Given the description of an element on the screen output the (x, y) to click on. 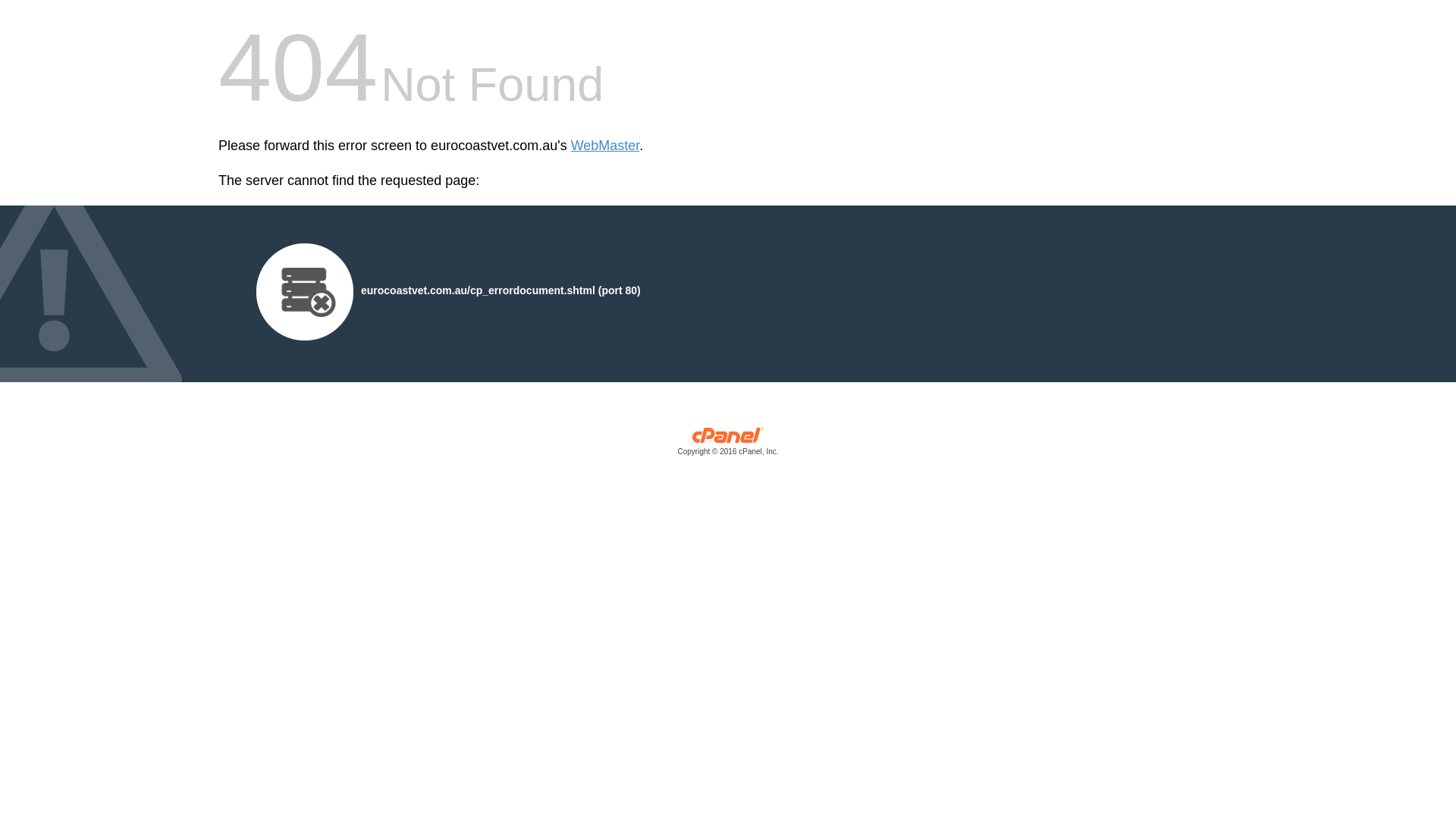
WebMaster Element type: text (605, 145)
